Given the description of an element on the screen output the (x, y) to click on. 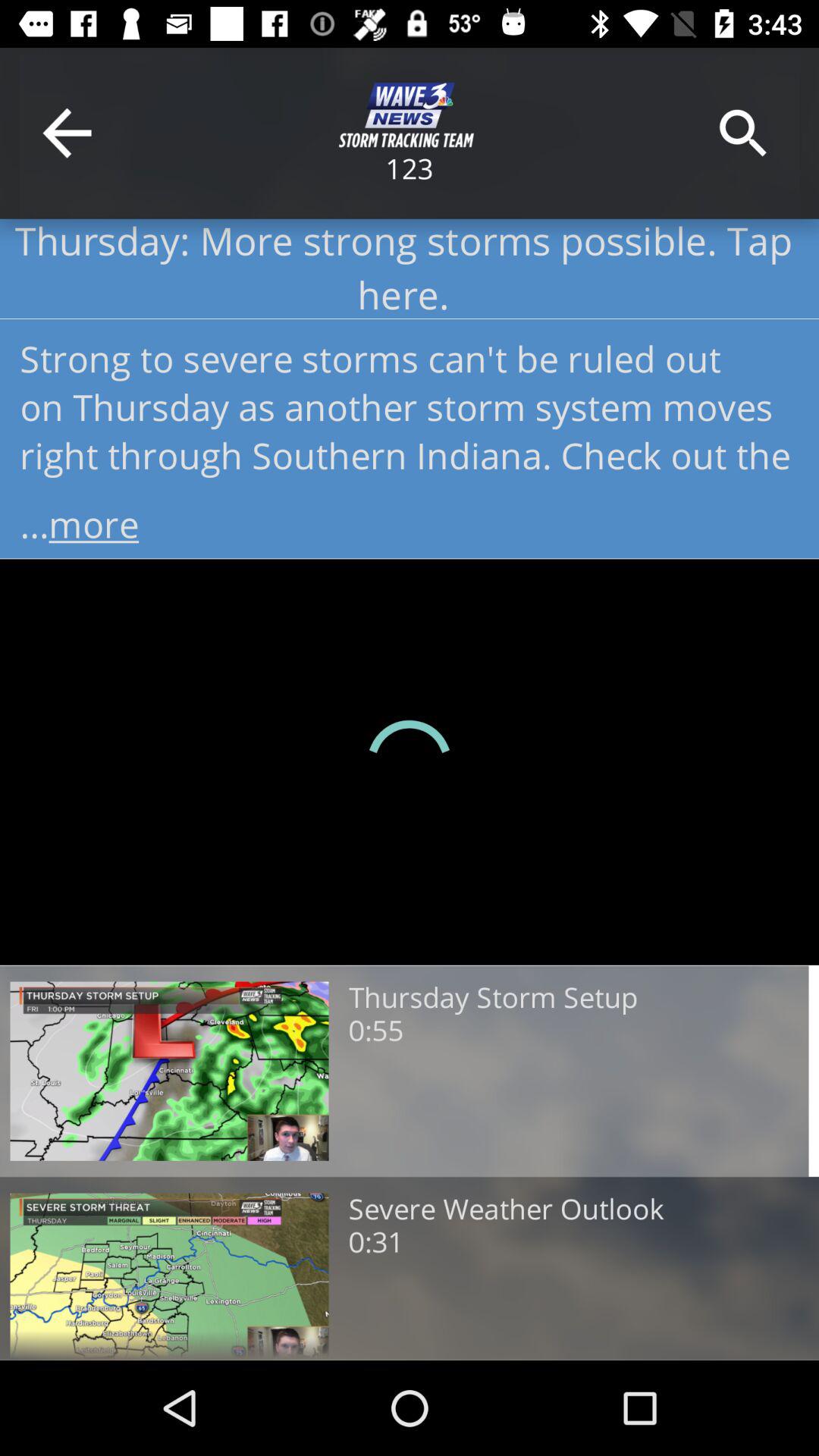
scroll until the severe weather outlook icon (506, 1209)
